Given the description of an element on the screen output the (x, y) to click on. 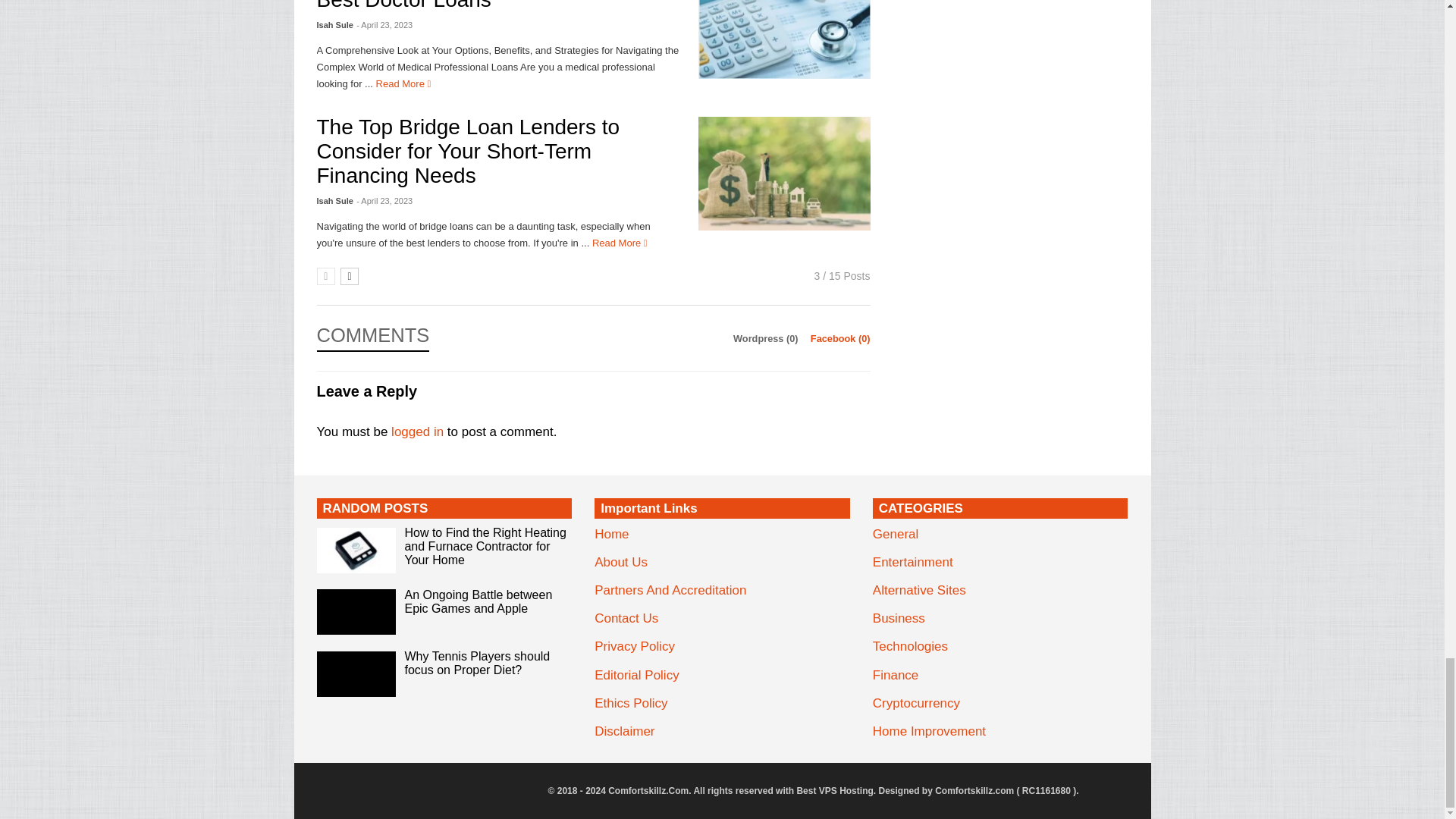
The Ultimate Guide to Securing the Best Doctor Loans (482, 5)
The Ultimate Guide to Securing the Best Doctor Loans (783, 39)
The Ultimate Guide to Securing the Best Doctor Loans (402, 83)
The Ultimate Guide to Securing the Best Doctor Loans 2 (783, 39)
